Given the description of an element on the screen output the (x, y) to click on. 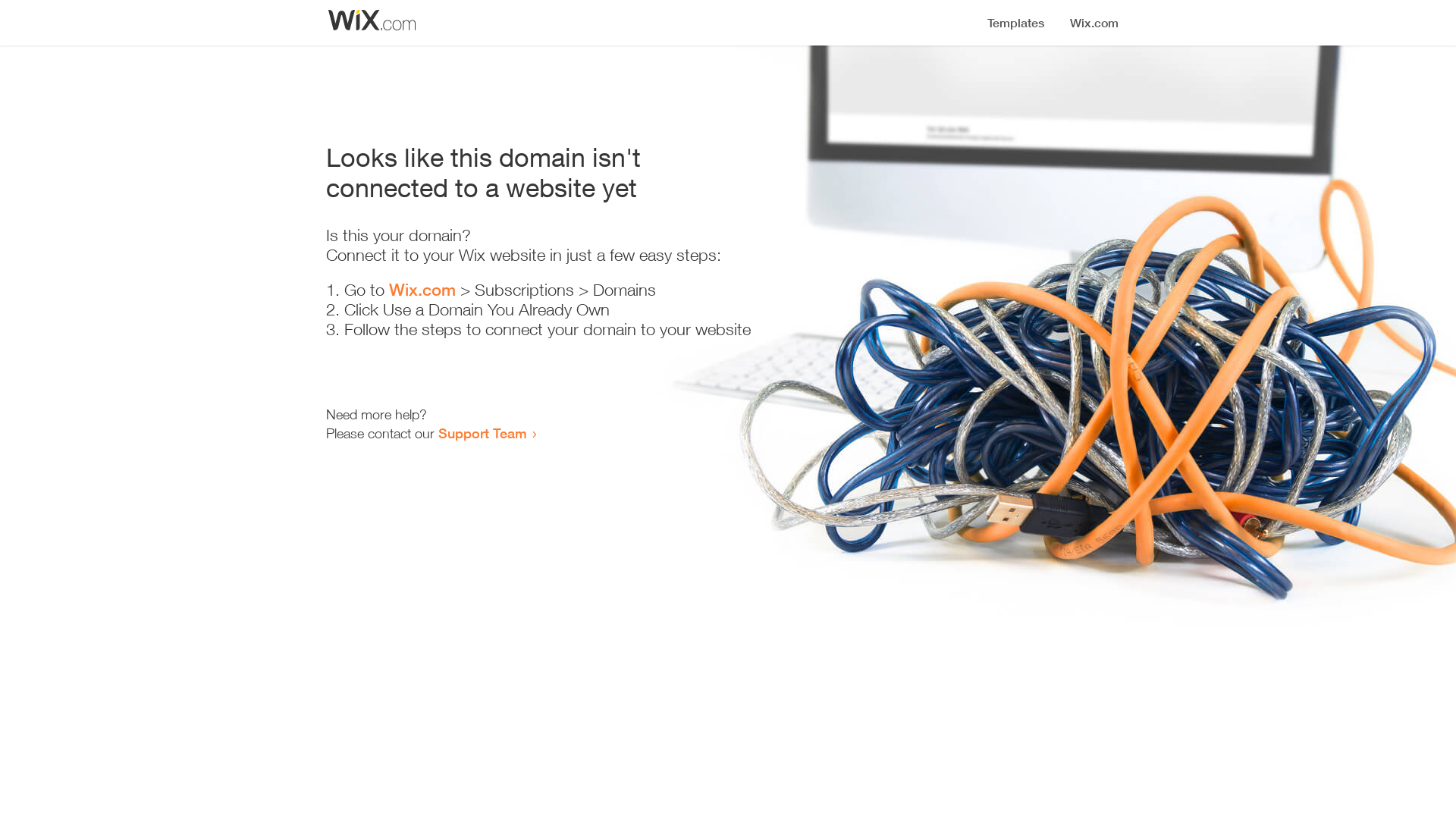
Wix.com Element type: text (422, 289)
Support Team Element type: text (482, 432)
